Given the description of an element on the screen output the (x, y) to click on. 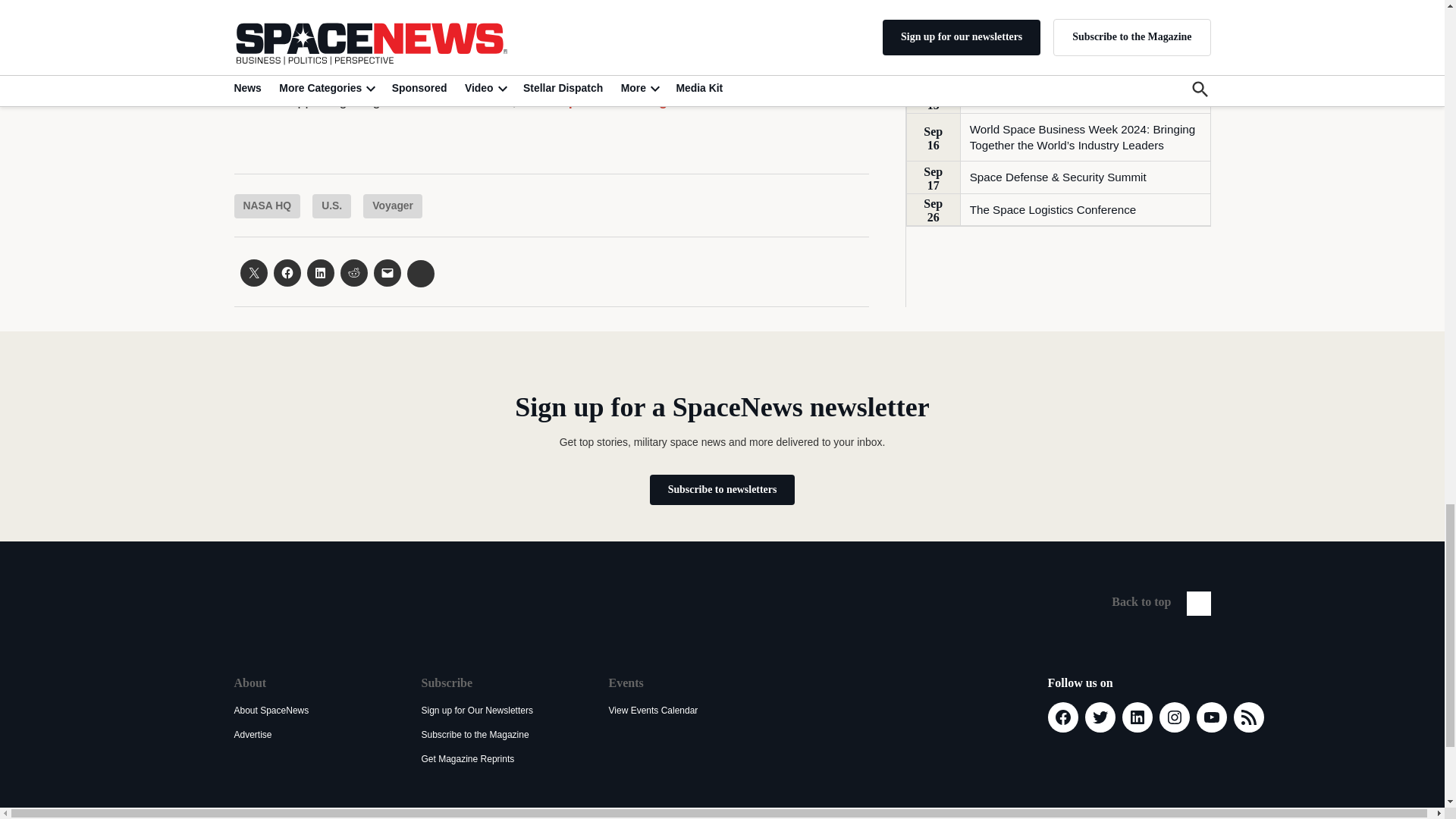
Click to share on Clipboard (419, 273)
Click to share on Facebook (286, 272)
Click to share on Reddit (352, 272)
Click to email a link to a friend (386, 272)
Click to share on X (253, 272)
Click to share on LinkedIn (319, 272)
